Given the description of an element on the screen output the (x, y) to click on. 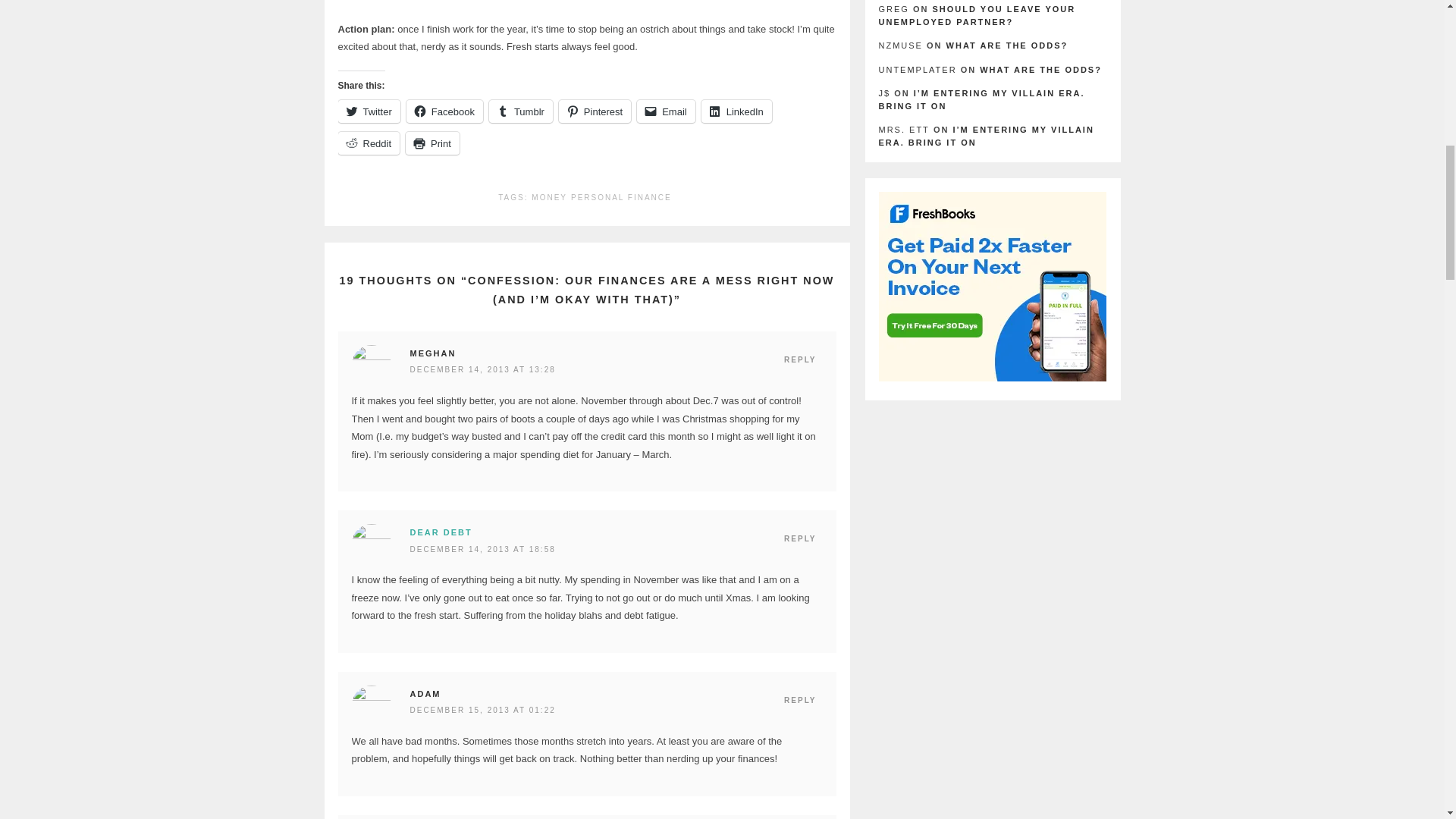
Print (433, 142)
DEAR DEBT (440, 532)
Facebook (444, 110)
Pinterest (594, 110)
Click to share on LinkedIn (736, 110)
Tumblr (521, 110)
Click to share on Pinterest (594, 110)
PERSONAL FINANCE (620, 199)
MONEY (549, 199)
Click to email a link to a friend (666, 110)
